Given the description of an element on the screen output the (x, y) to click on. 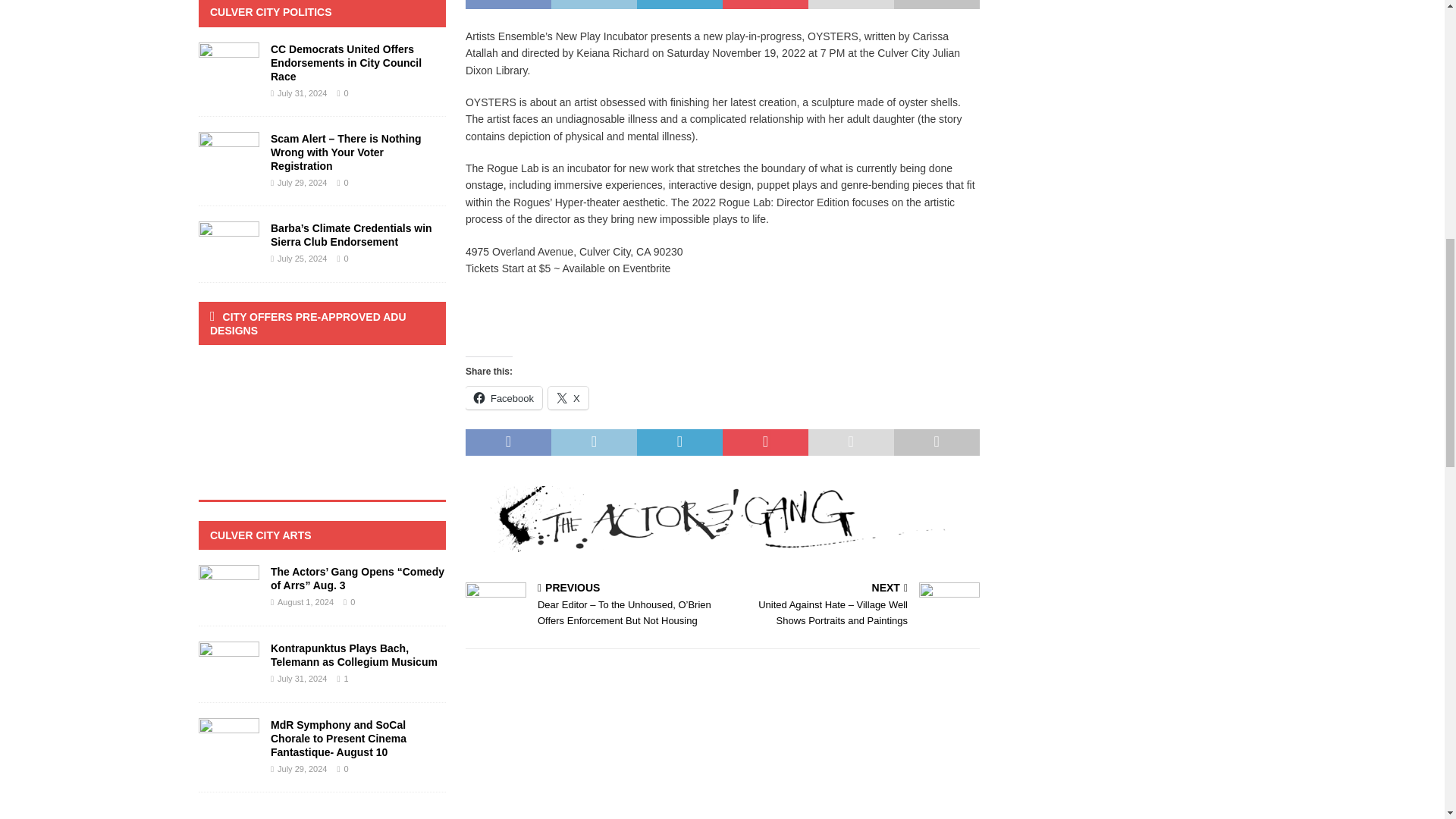
X (568, 397)
Facebook (503, 397)
